Given the description of an element on the screen output the (x, y) to click on. 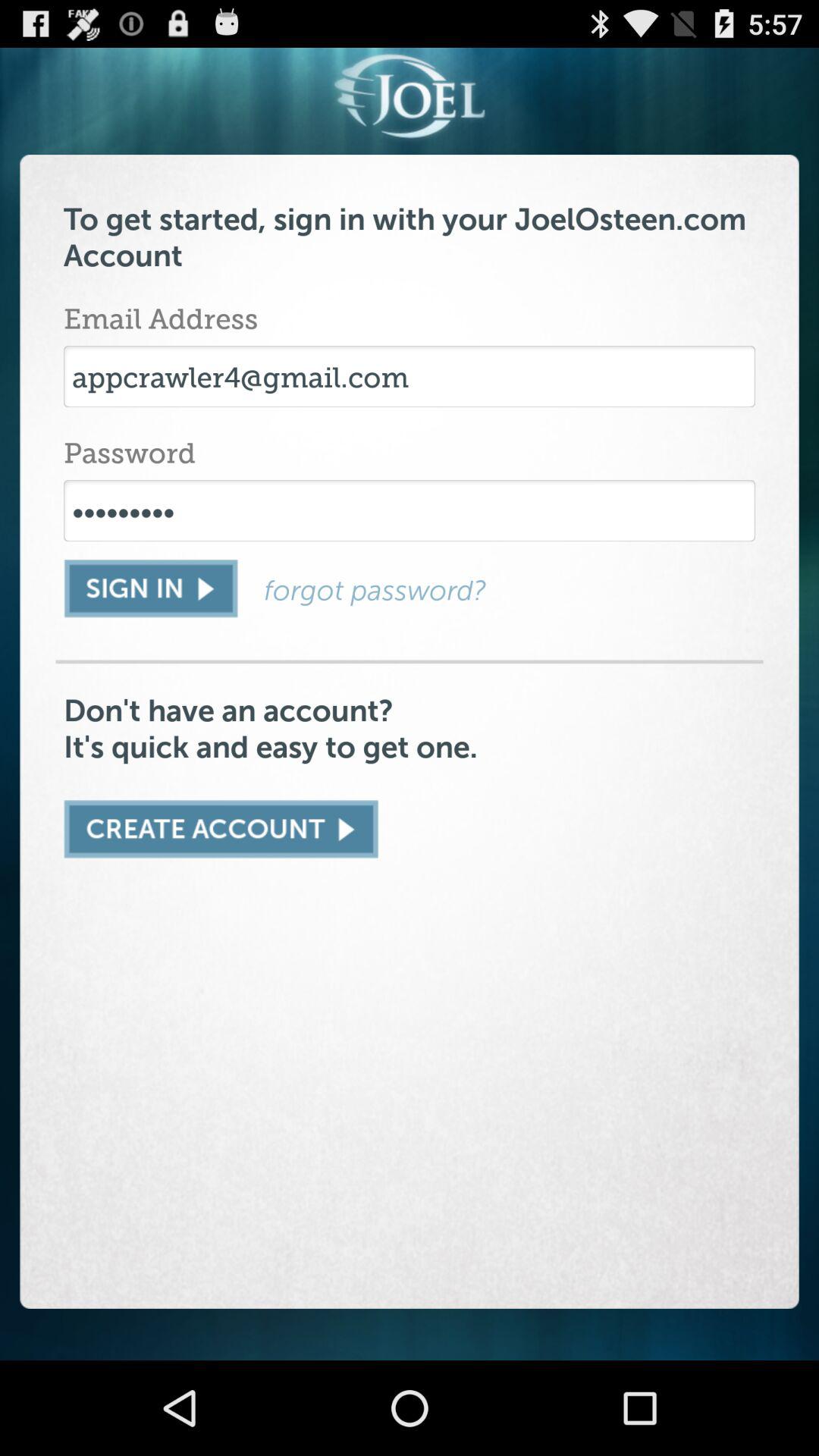
create an account (220, 829)
